Given the description of an element on the screen output the (x, y) to click on. 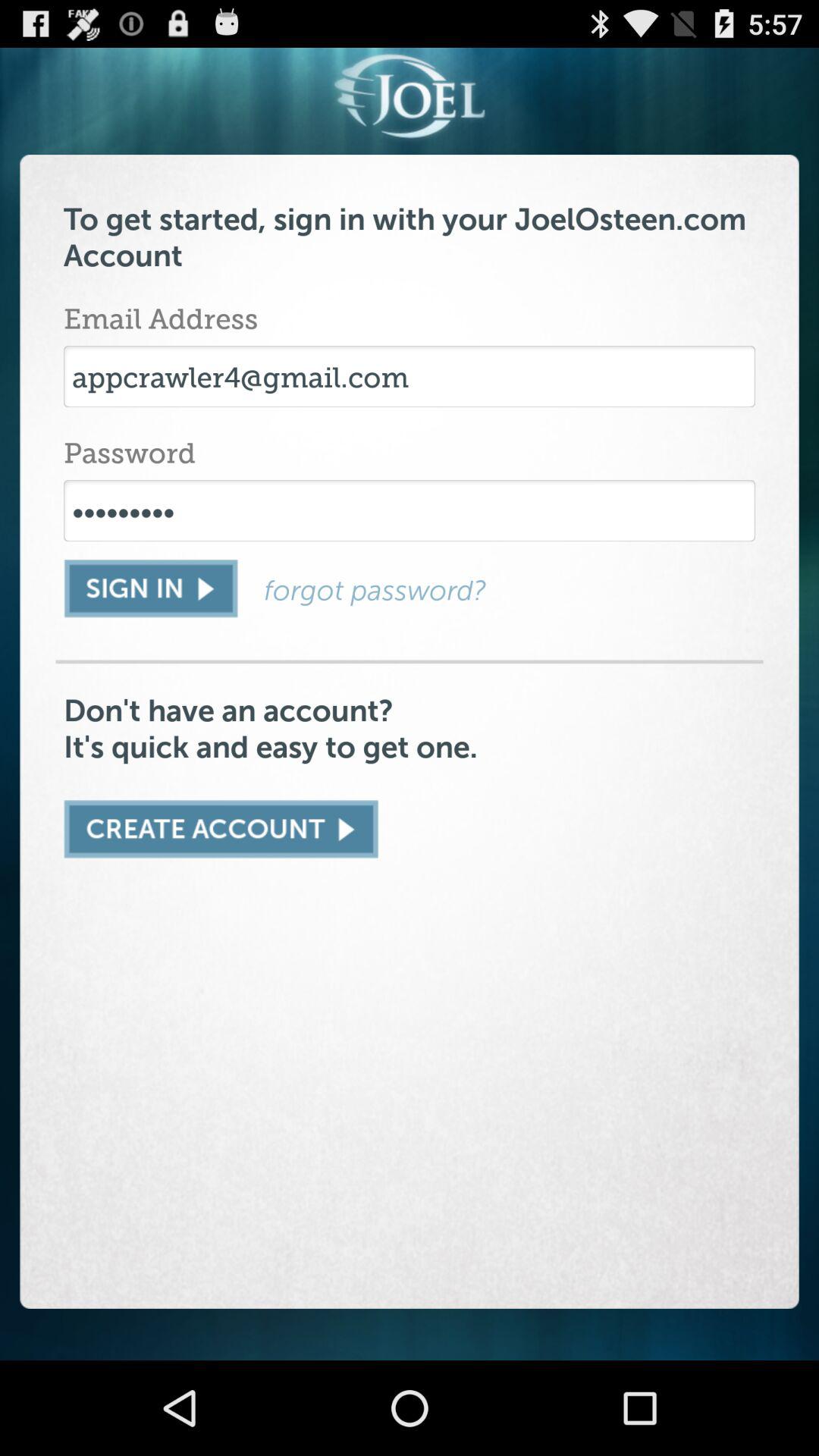
create an account (220, 829)
